Given the description of an element on the screen output the (x, y) to click on. 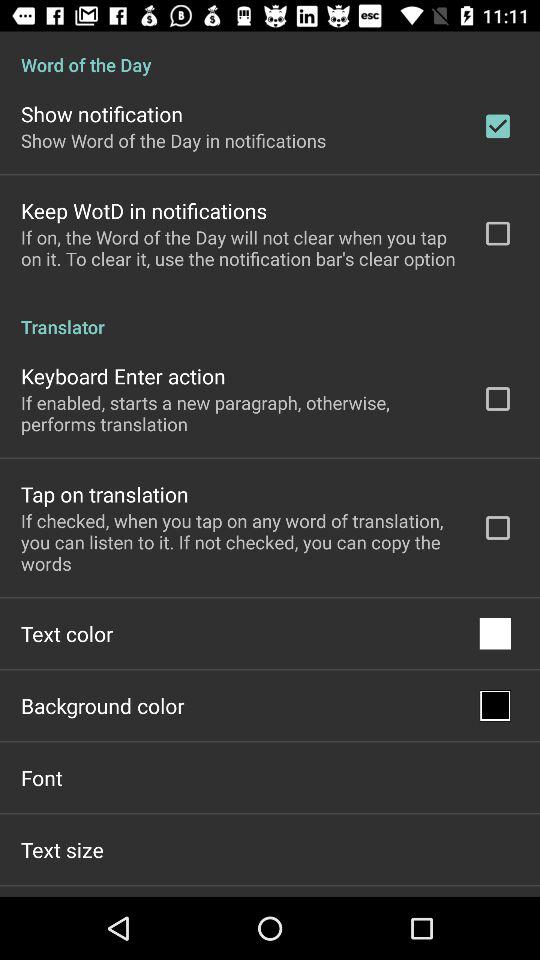
select icon below the background color icon (41, 777)
